Given the description of an element on the screen output the (x, y) to click on. 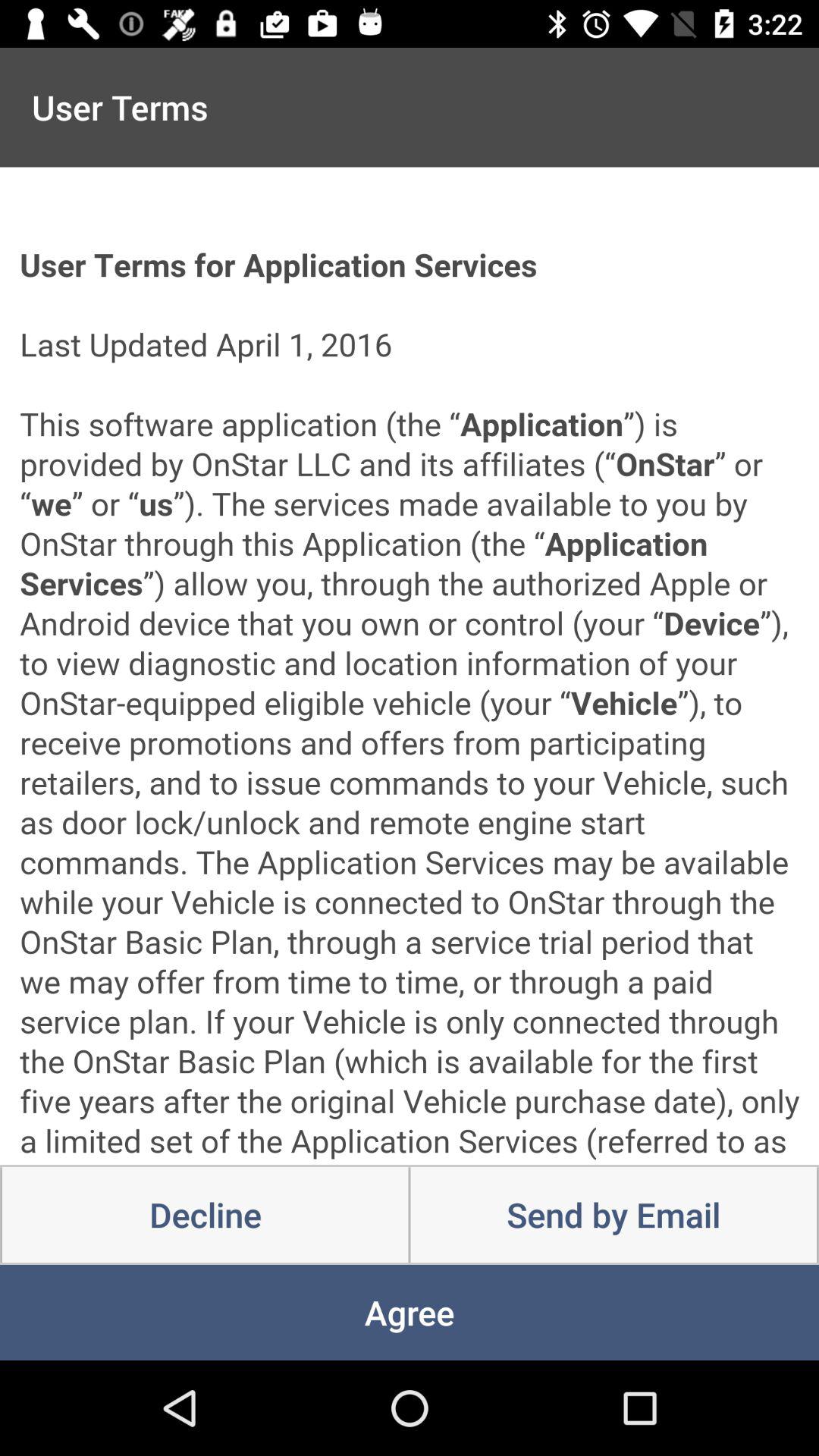
scroll the terms for application services (409, 665)
